Given the description of an element on the screen output the (x, y) to click on. 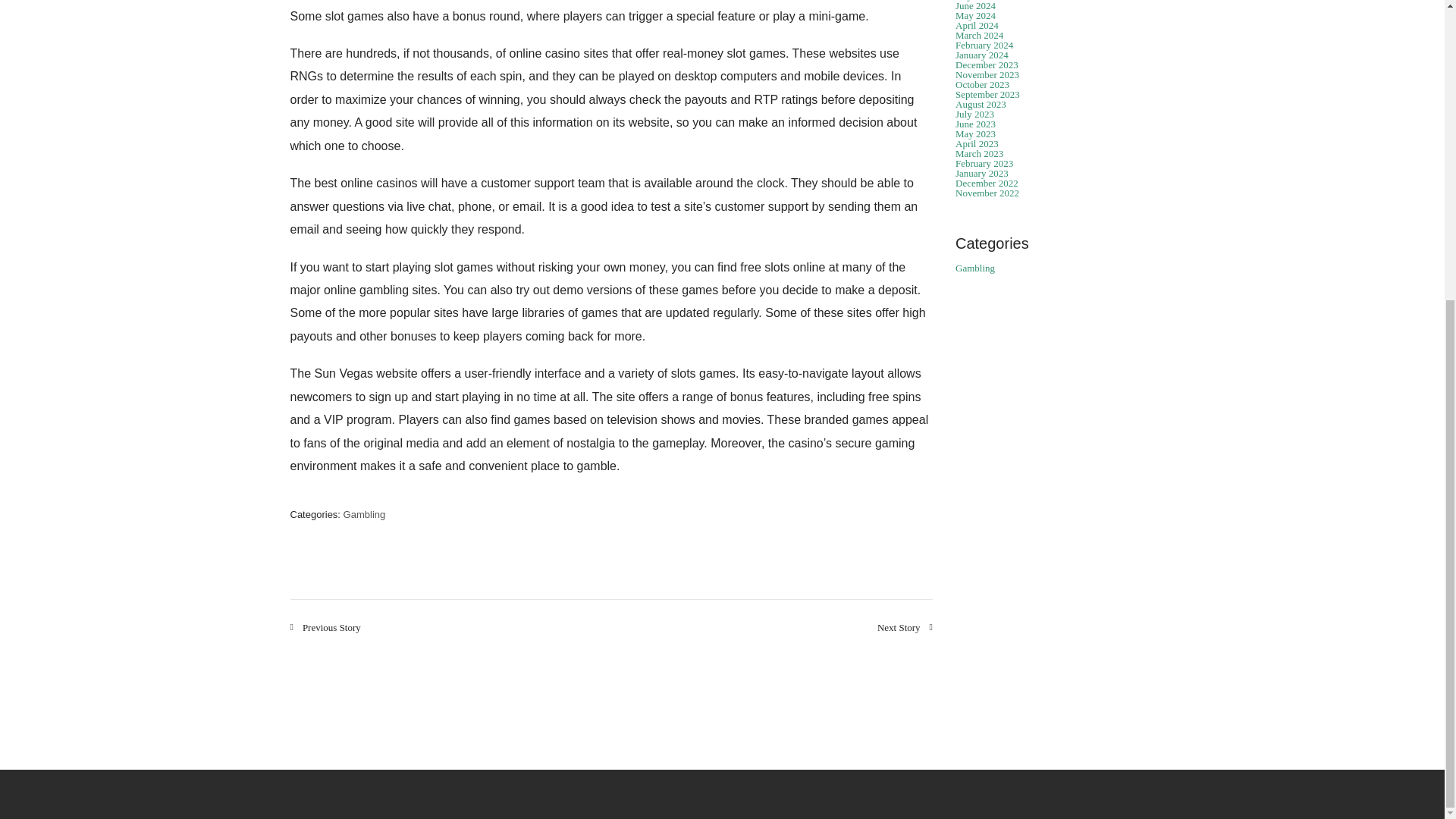
April 2023 (976, 143)
January 2023 (982, 173)
January 2024 (982, 54)
May 2023 (975, 133)
August 2023 (980, 103)
May 2024 (975, 15)
March 2024 (979, 34)
Next Story (905, 627)
April 2024 (976, 25)
December 2023 (986, 64)
July 2024 (974, 0)
Gambling (364, 514)
September 2023 (987, 93)
Previous Story (324, 627)
November 2023 (987, 74)
